Given the description of an element on the screen output the (x, y) to click on. 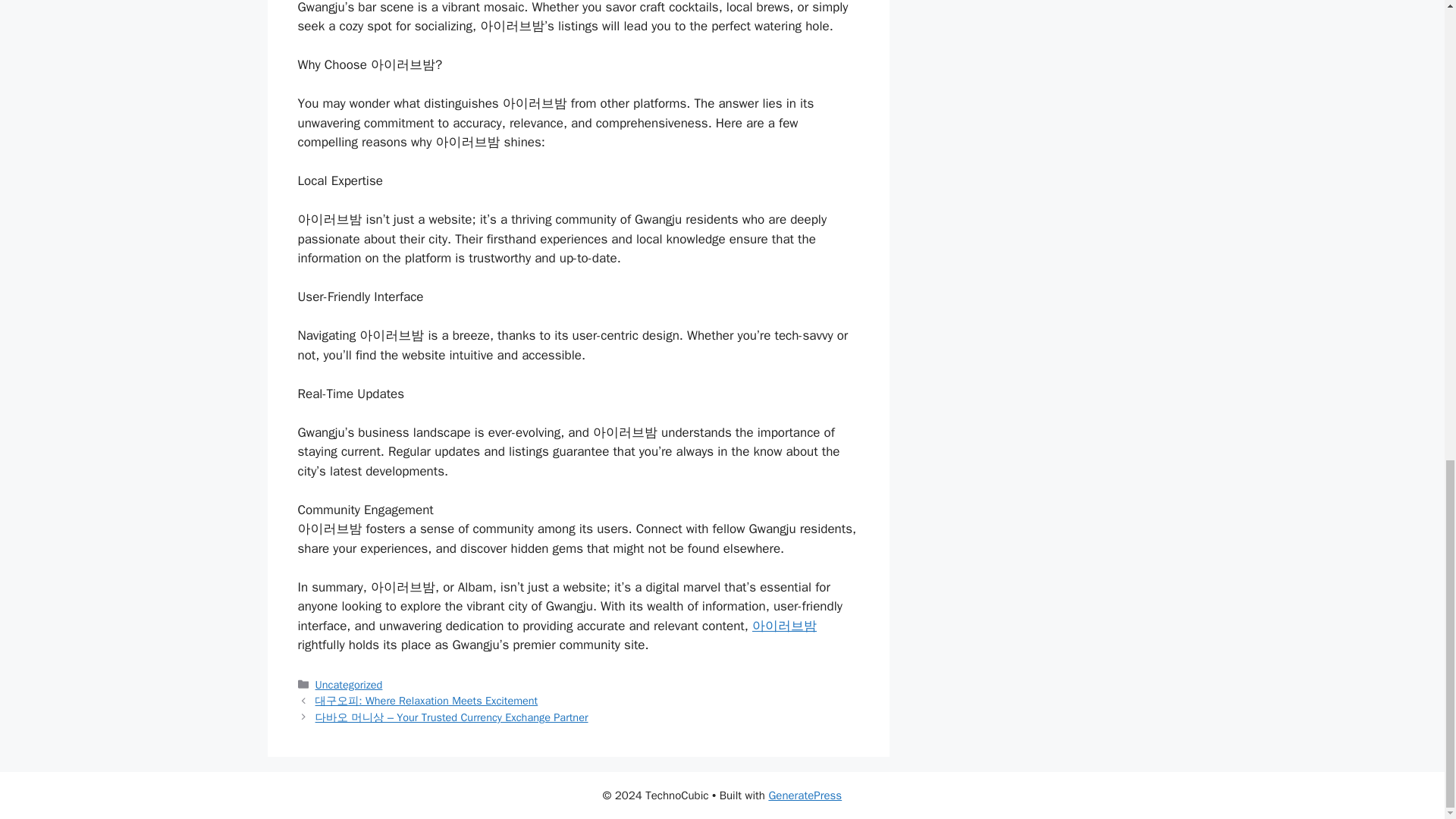
Uncategorized (348, 684)
GeneratePress (804, 795)
